Given the description of an element on the screen output the (x, y) to click on. 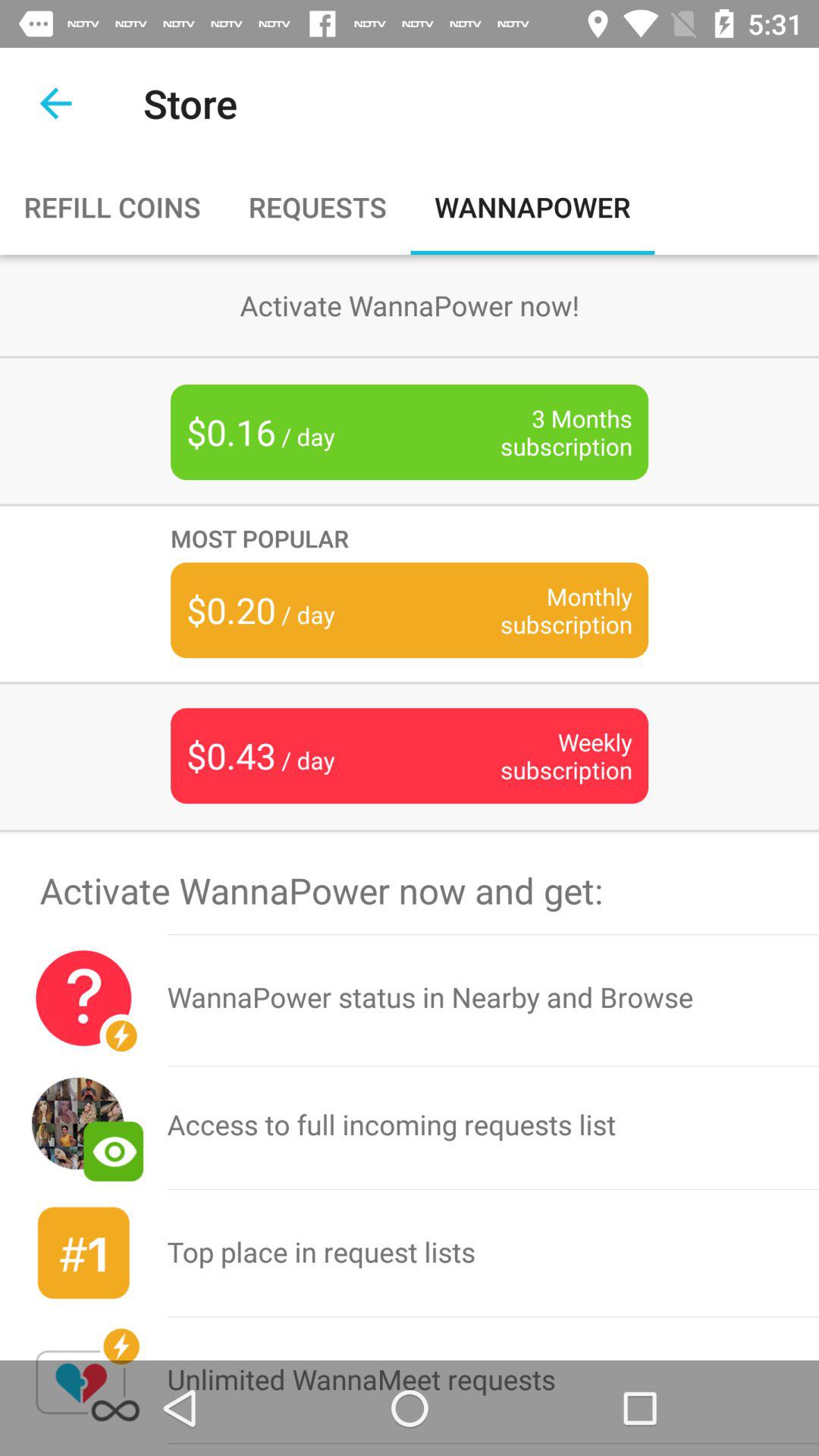
scroll to the unlimited wannameet requests item (493, 1380)
